Given the description of an element on the screen output the (x, y) to click on. 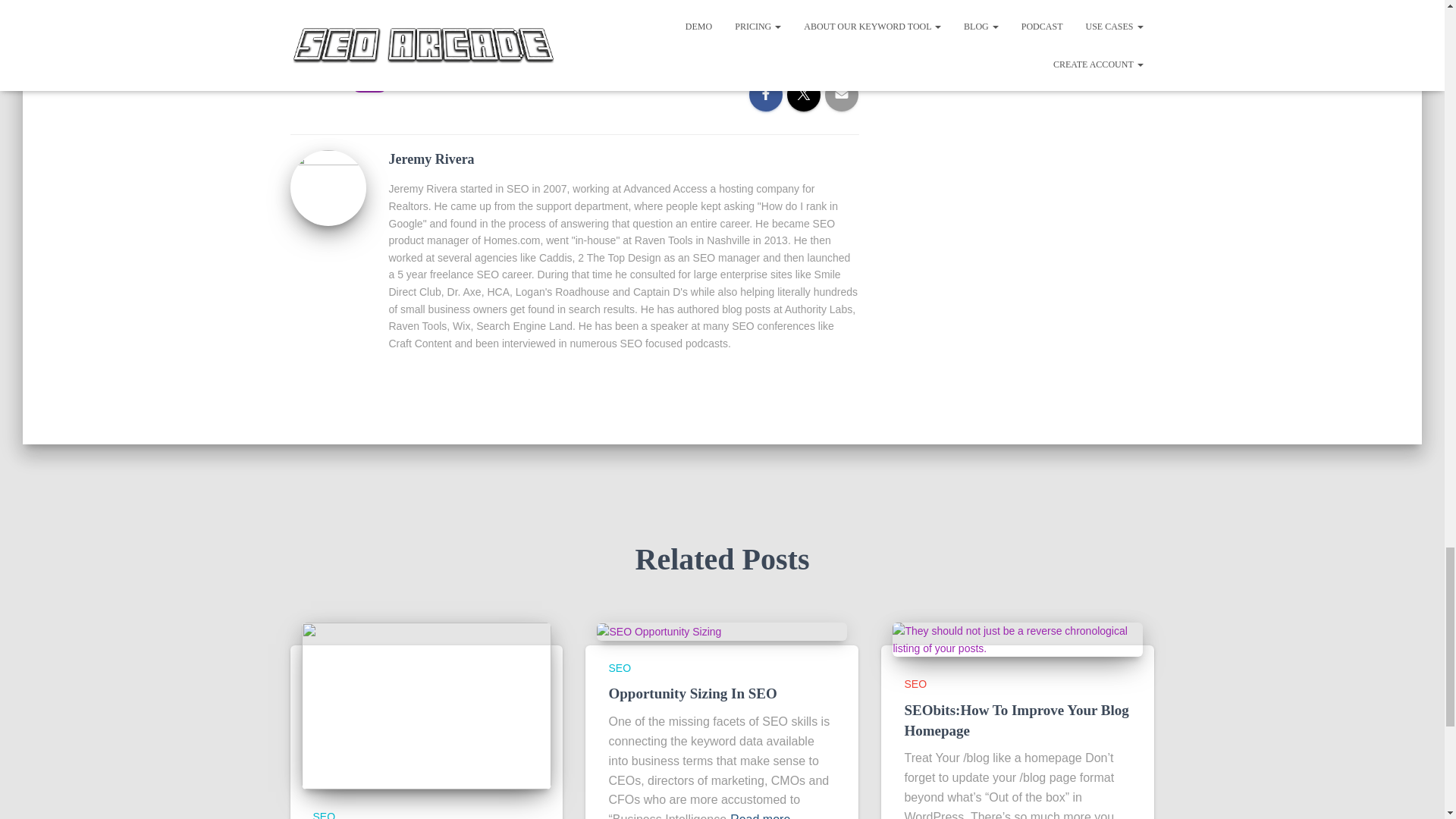
has some free SEO tools of their own (563, 5)
